Given the description of an element on the screen output the (x, y) to click on. 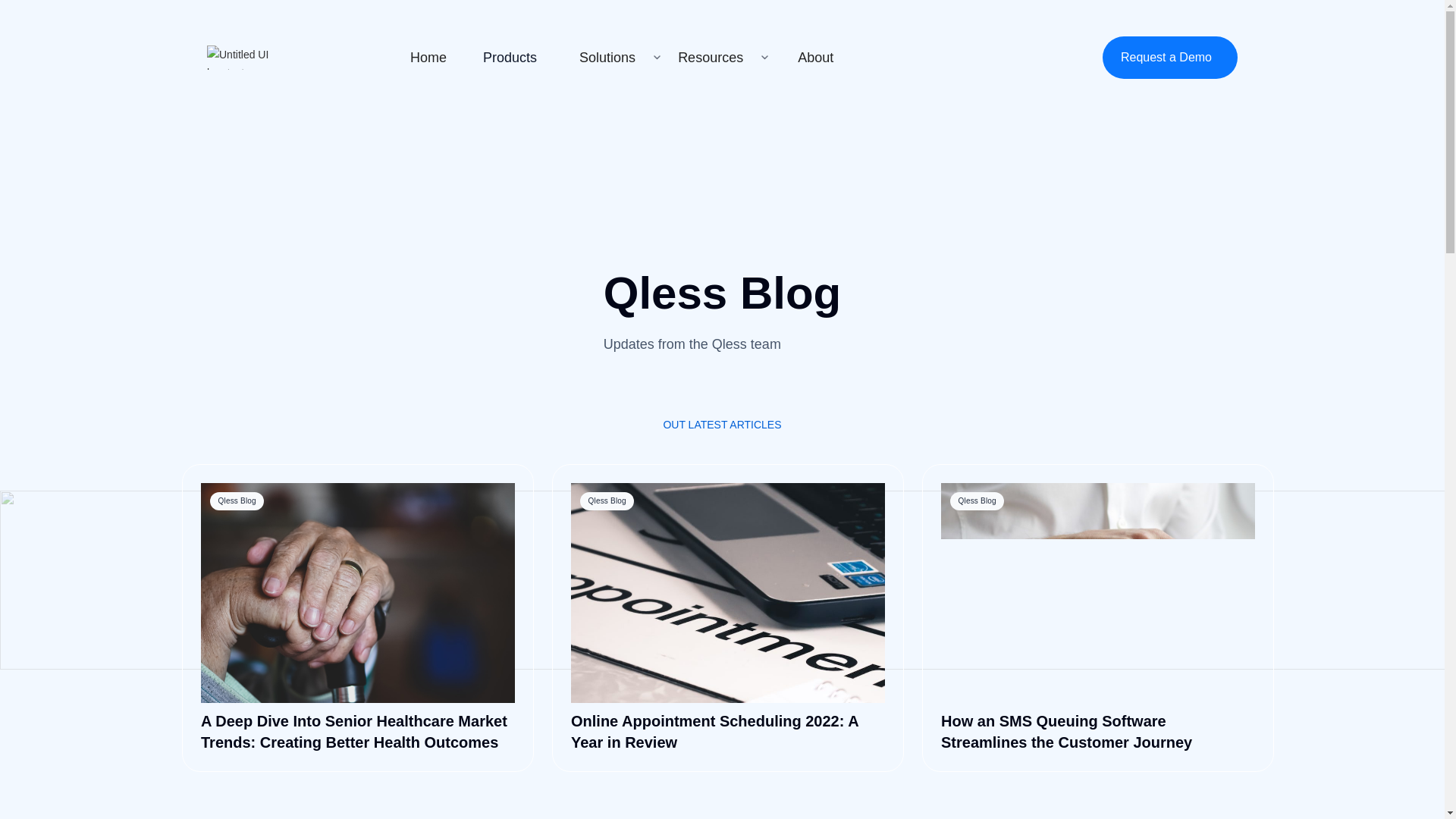
Qless Blog (727, 592)
Qless Blog (357, 592)
About (815, 57)
Products (510, 57)
Request a Demo (1169, 57)
Home (427, 57)
Qless Blog (1097, 592)
